Given the description of an element on the screen output the (x, y) to click on. 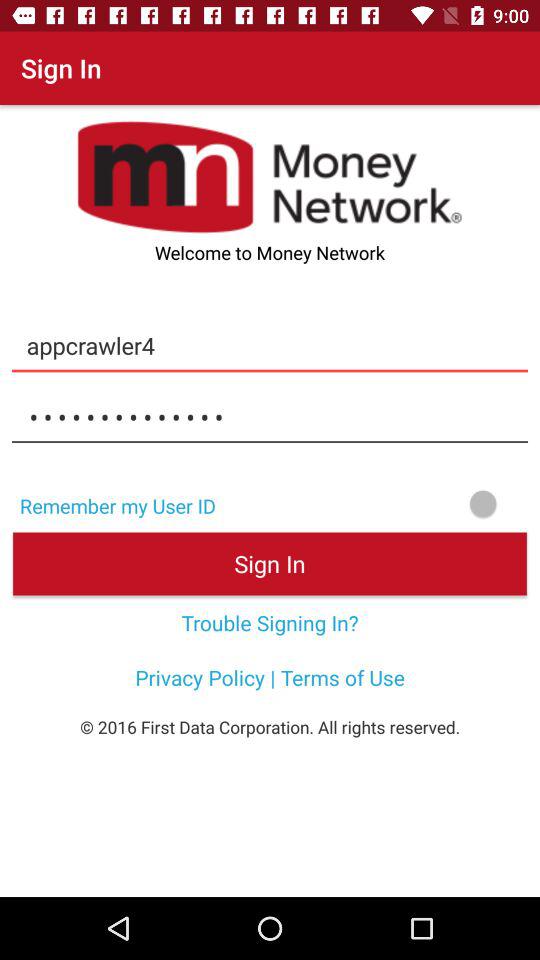
turn off the item above the remember my user icon (269, 417)
